Given the description of an element on the screen output the (x, y) to click on. 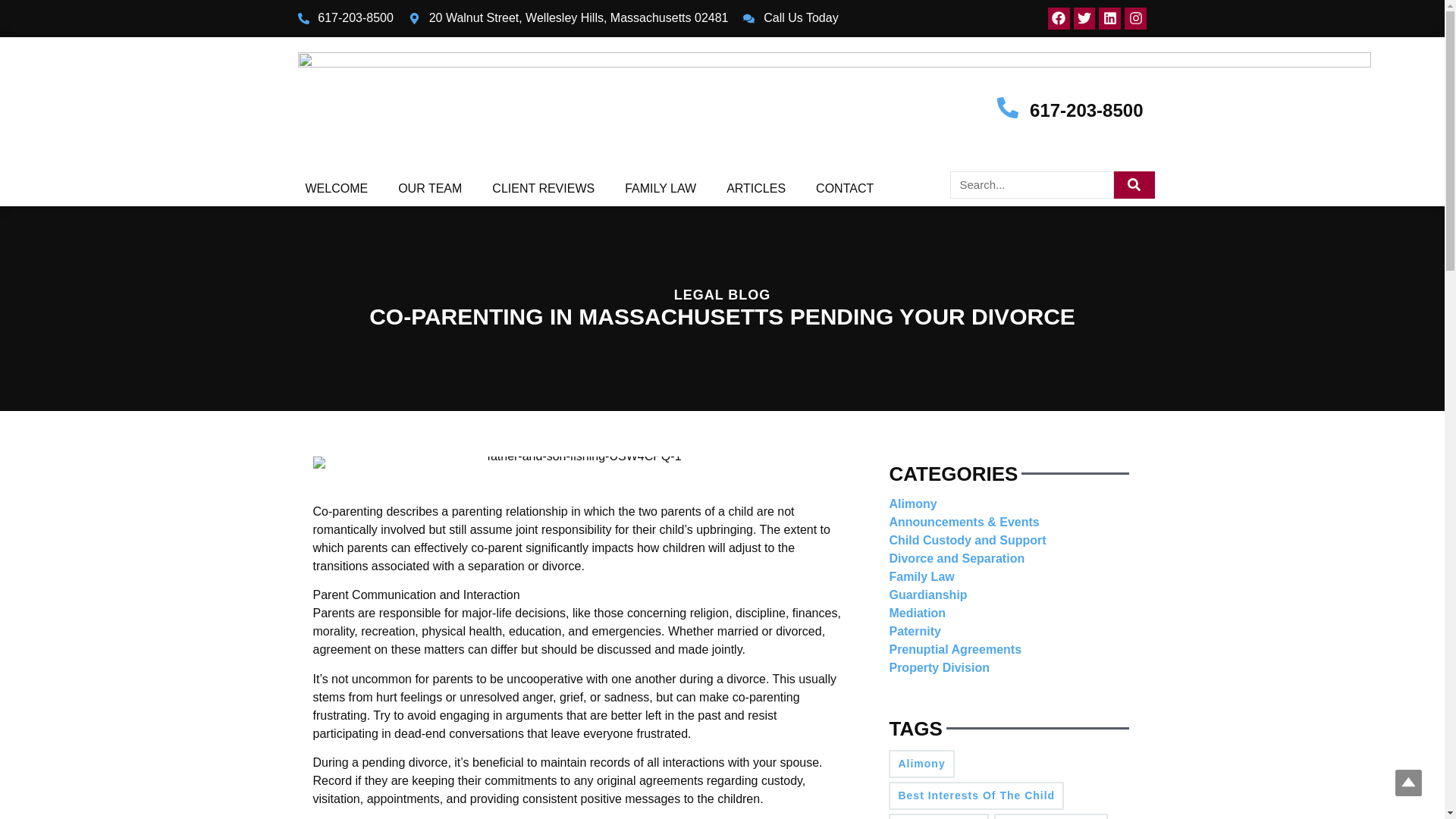
Scroll to Top (1408, 782)
father-and-son-fishing-USW4CPQ-1 (578, 462)
FAMILY LAW (660, 189)
WELCOME (335, 189)
617-203-8500 (1085, 109)
Call Us Today (790, 18)
ARTICLES (755, 189)
OUR TEAM (429, 189)
CLIENT REVIEWS (543, 189)
CONTACT (844, 189)
